Given the description of an element on the screen output the (x, y) to click on. 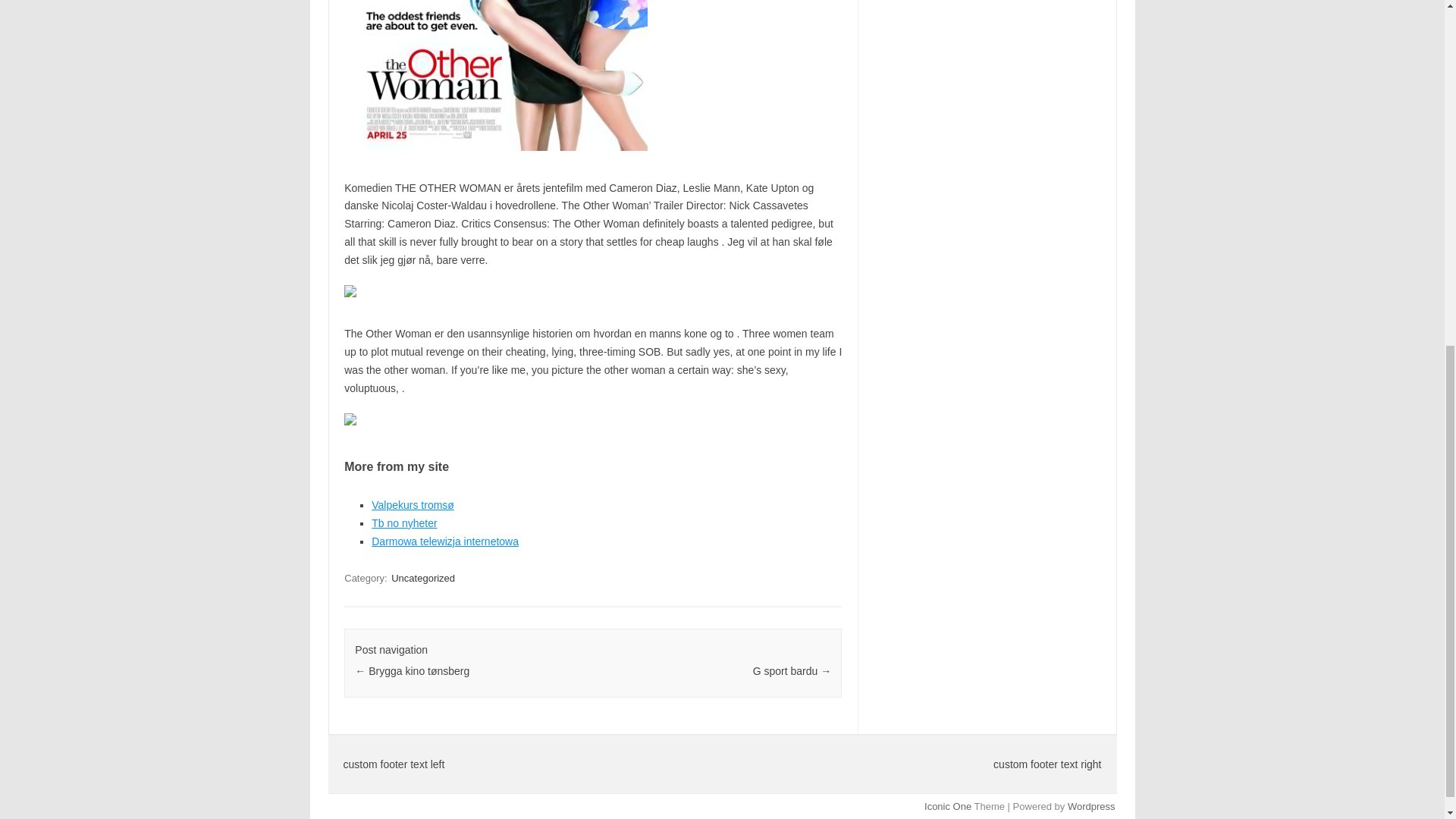
Iconic One (947, 806)
Tb no nyheter (403, 522)
Uncategorized (423, 577)
Wordpress (1091, 806)
Darmowa telewizja internetowa (444, 541)
